Given the description of an element on the screen output the (x, y) to click on. 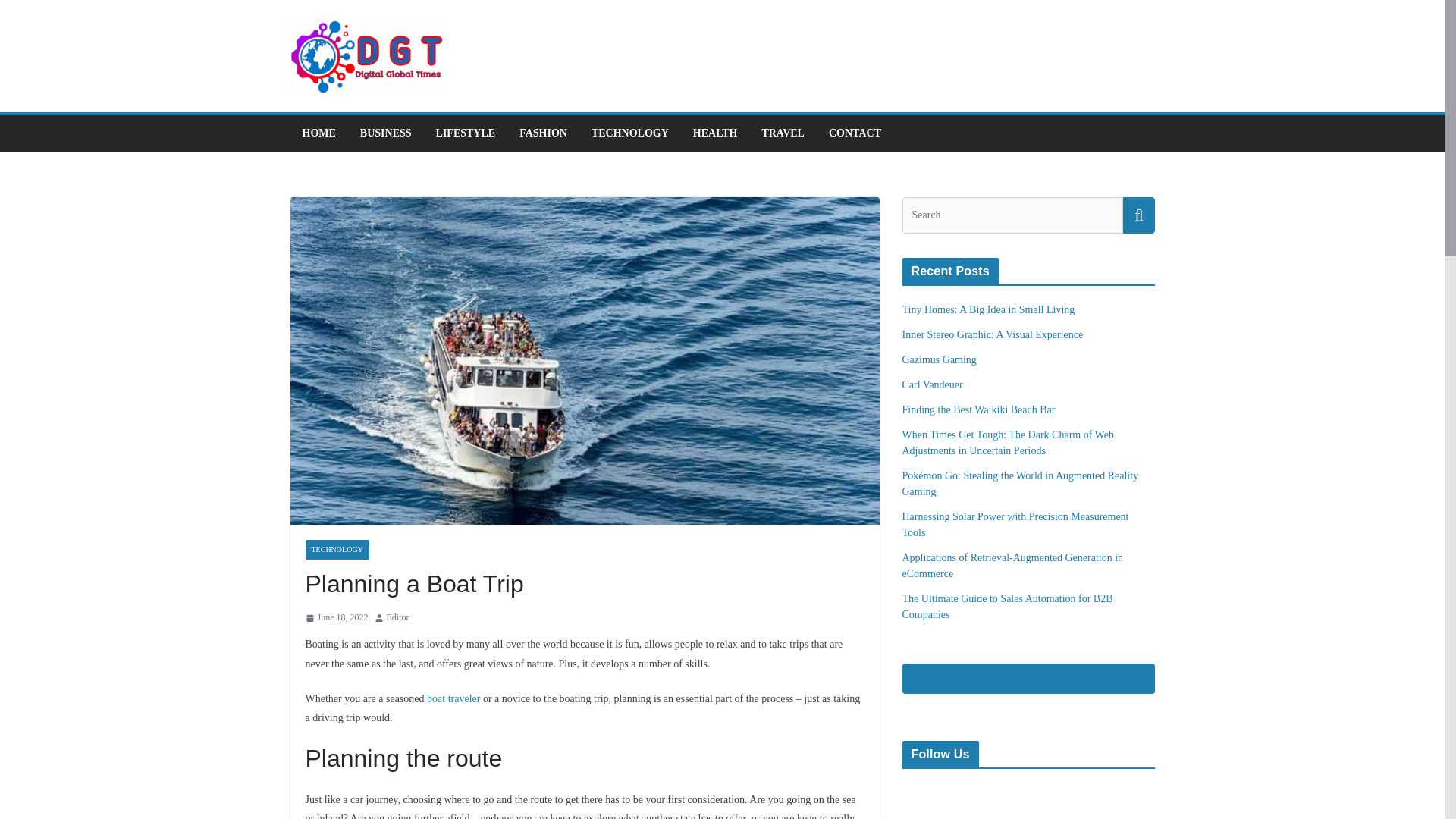
BUSINESS (385, 133)
12:02 am (336, 617)
TRAVEL (783, 133)
Editor (398, 617)
LIFESTYLE (465, 133)
HEALTH (715, 133)
TECHNOLOGY (629, 133)
Finding the Best Waikiki Beach Bar (978, 409)
Gazimus Gaming (939, 359)
Carl Vandeuer (932, 384)
